Given the description of an element on the screen output the (x, y) to click on. 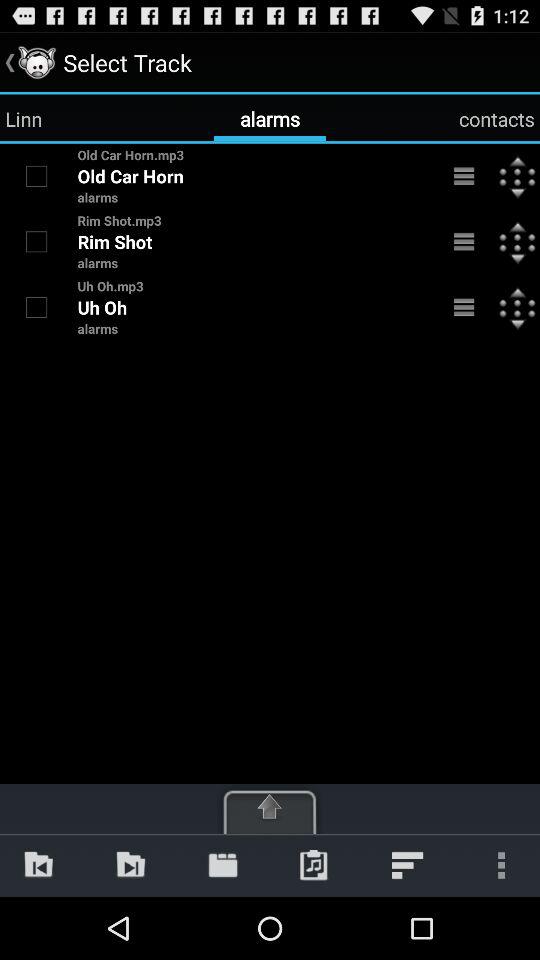
select alarm (36, 241)
